Given the description of an element on the screen output the (x, y) to click on. 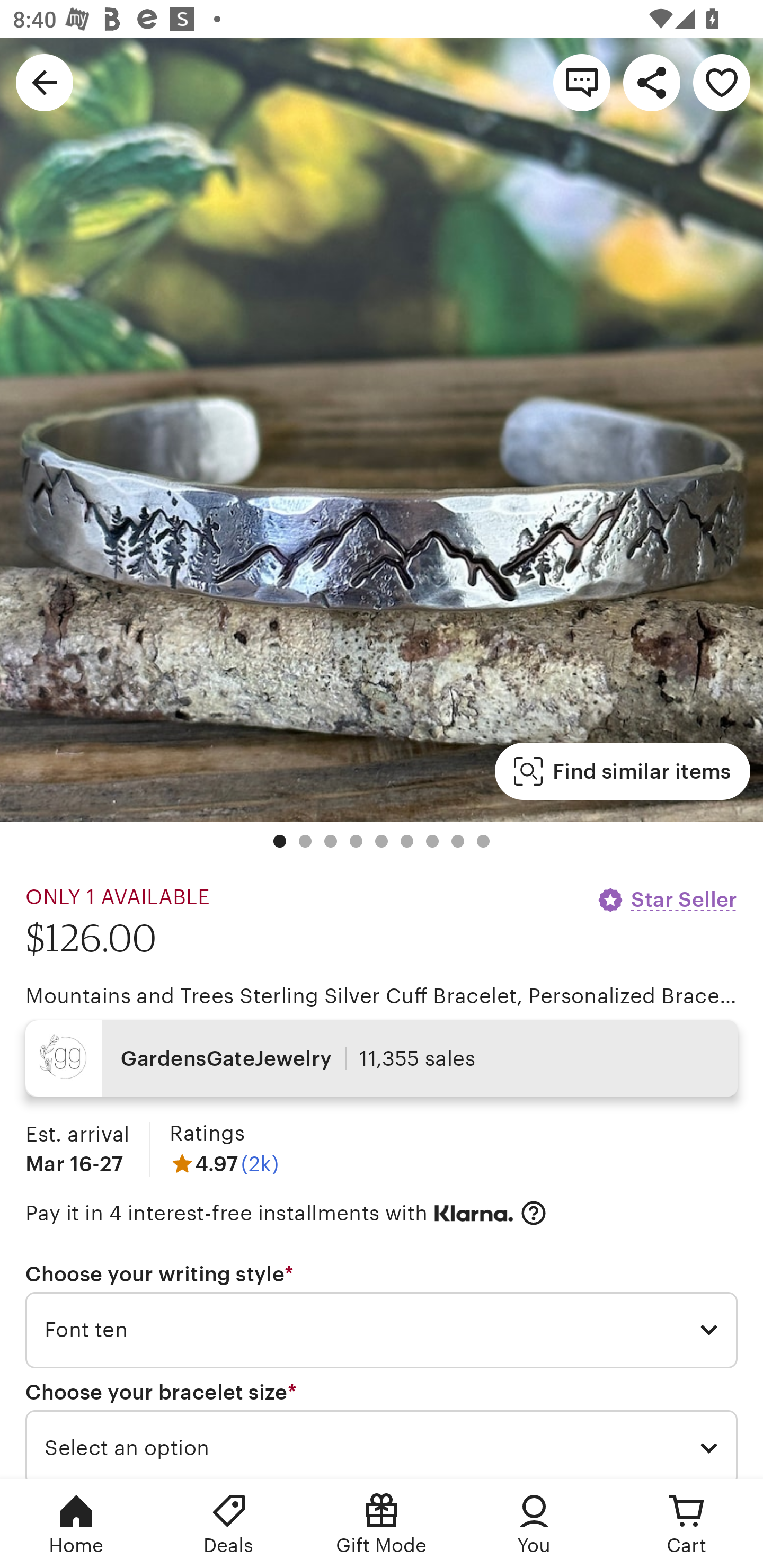
Navigate up (44, 81)
Contact shop (581, 81)
Share (651, 81)
Find similar items (622, 771)
Star Seller (666, 899)
GardensGateJewelry 11,355 sales (381, 1058)
Ratings (206, 1133)
4.97 (2k) (223, 1163)
Choose your writing style * Required Font ten (381, 1315)
Font ten (381, 1330)
Select an option (381, 1443)
Deals (228, 1523)
Gift Mode (381, 1523)
You (533, 1523)
Cart (686, 1523)
